Given the description of an element on the screen output the (x, y) to click on. 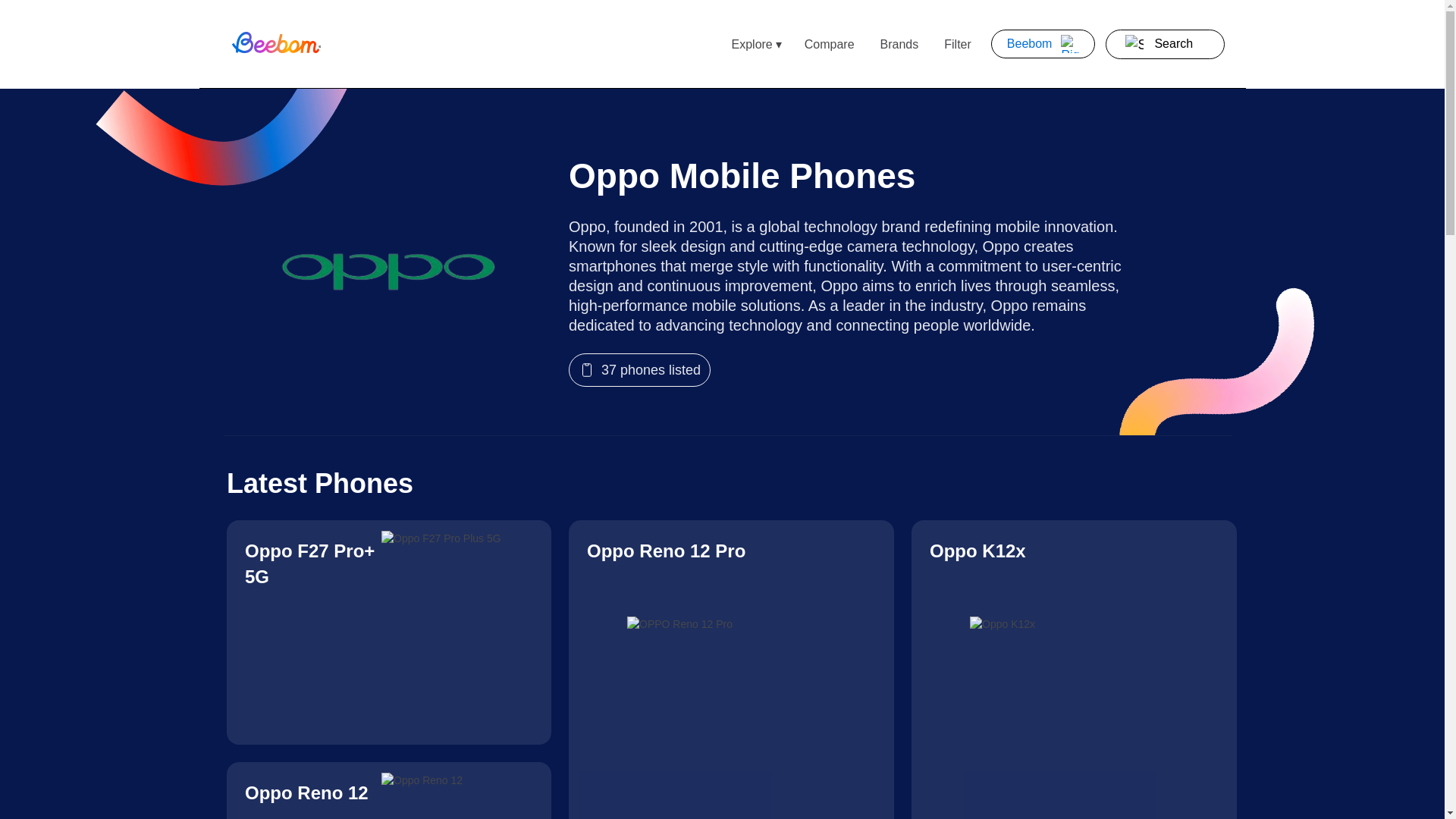
Filter (956, 44)
Brands (899, 44)
Explore (751, 44)
Beebom (1043, 43)
Oppo Reno 12 (389, 790)
Oppo K12x (1073, 669)
Search for: (1177, 44)
Compare (828, 44)
Oppo Reno 12 Pro (731, 669)
